Given the description of an element on the screen output the (x, y) to click on. 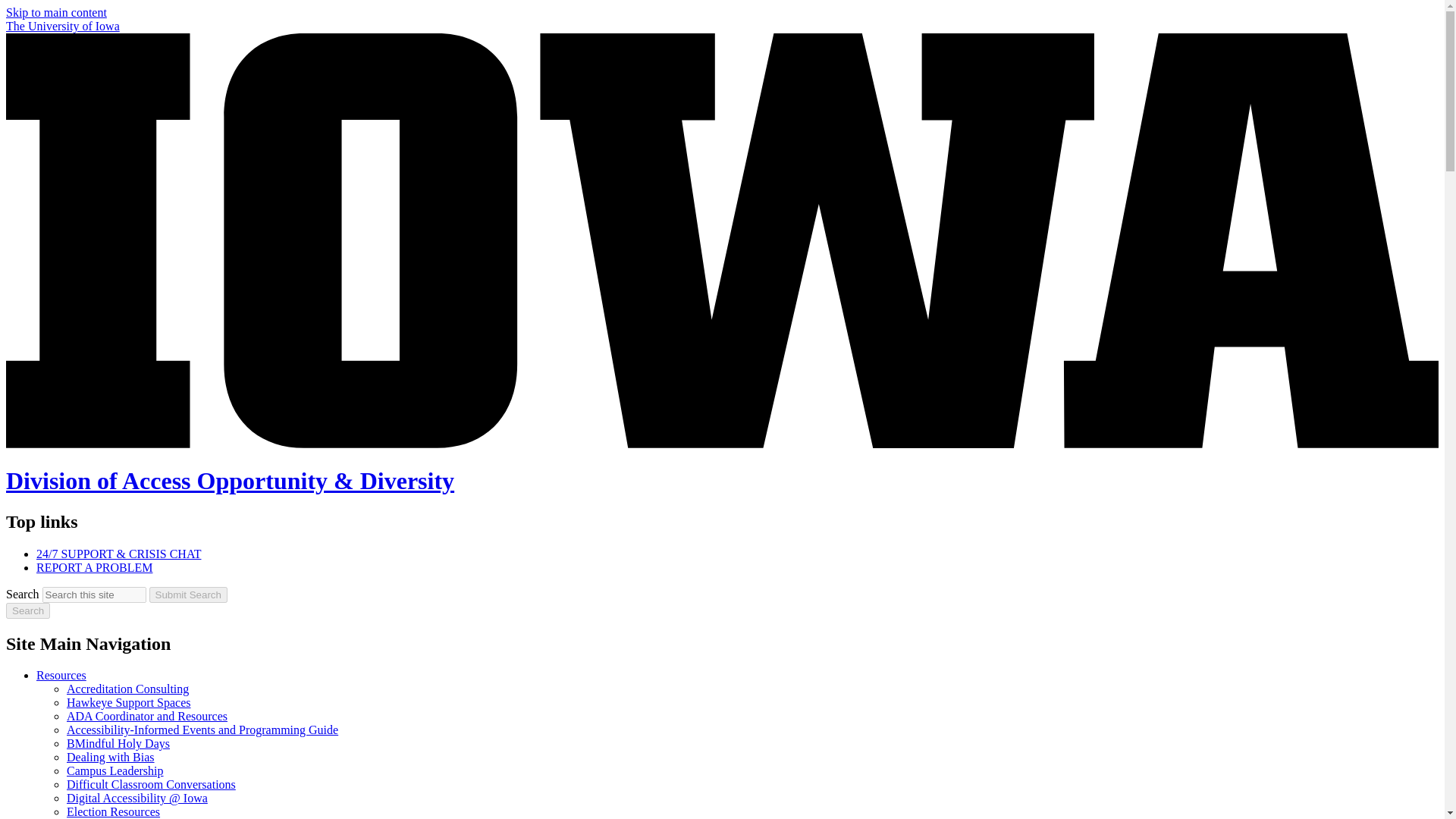
UI SUPPORT AND CRISIS LINE (118, 553)
Search (27, 610)
Election resources for the University of Iowa (113, 811)
Accreditation Consulting (127, 688)
Leadership Across Campus (114, 770)
Hawkeye Support Spaces (128, 702)
Accessibility-Informed Events and Programming Guide (201, 729)
BMindful Holy Days (118, 743)
Submit Search (188, 594)
Dealing with Bias (110, 757)
Difficult Classroom Conversations (150, 784)
Dealing with Bias (110, 757)
Accessibility-Informed Events and Programming Guide (201, 729)
Skip to main content (55, 11)
